Given the description of an element on the screen output the (x, y) to click on. 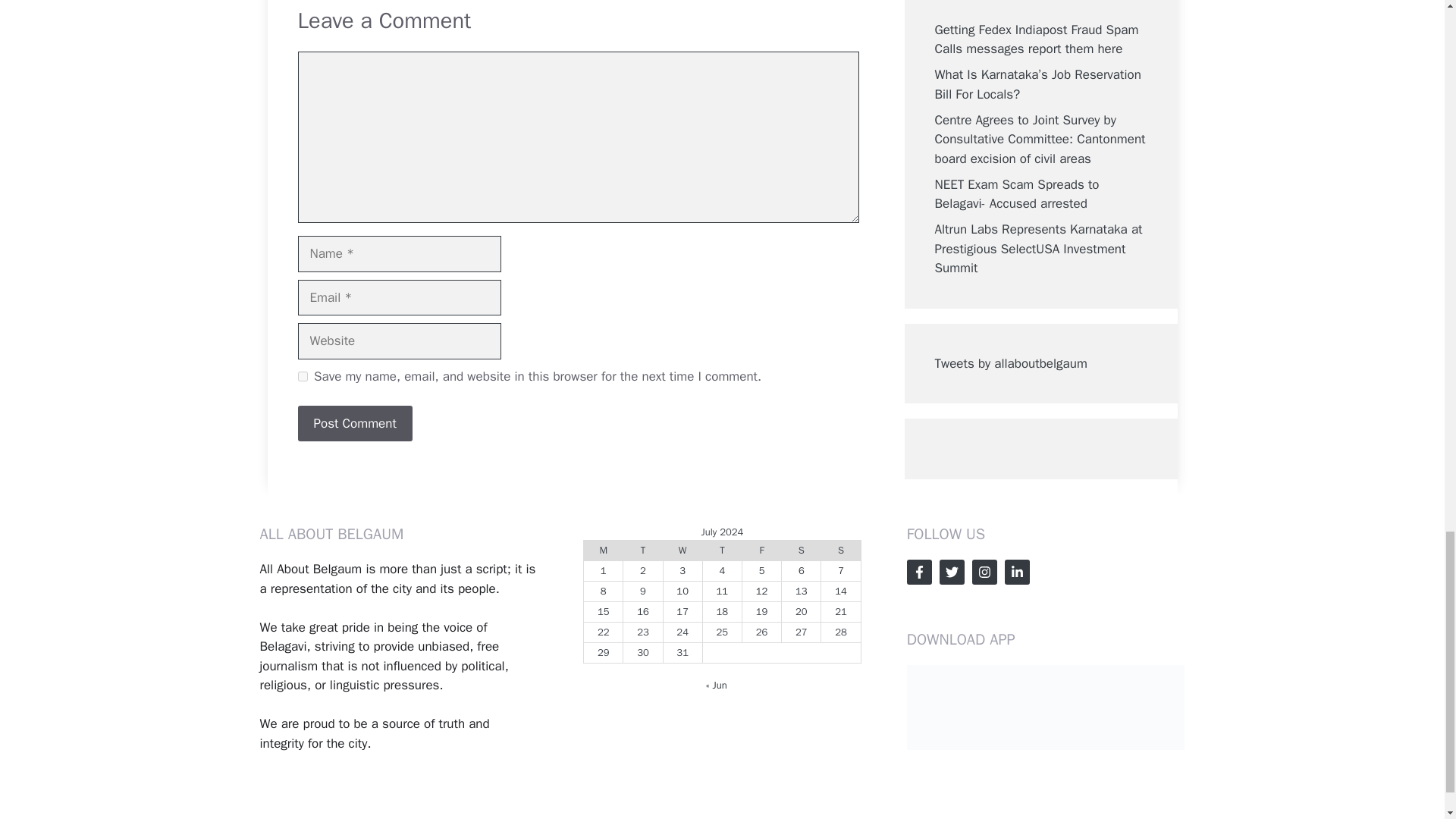
Monday (603, 549)
11 (722, 590)
Post Comment (354, 422)
Post Comment (354, 422)
Saturday (801, 549)
10 (682, 590)
Wednesday (681, 549)
Friday (760, 549)
Thursday (721, 549)
yes (302, 376)
Tuesday (642, 549)
